Given the description of an element on the screen output the (x, y) to click on. 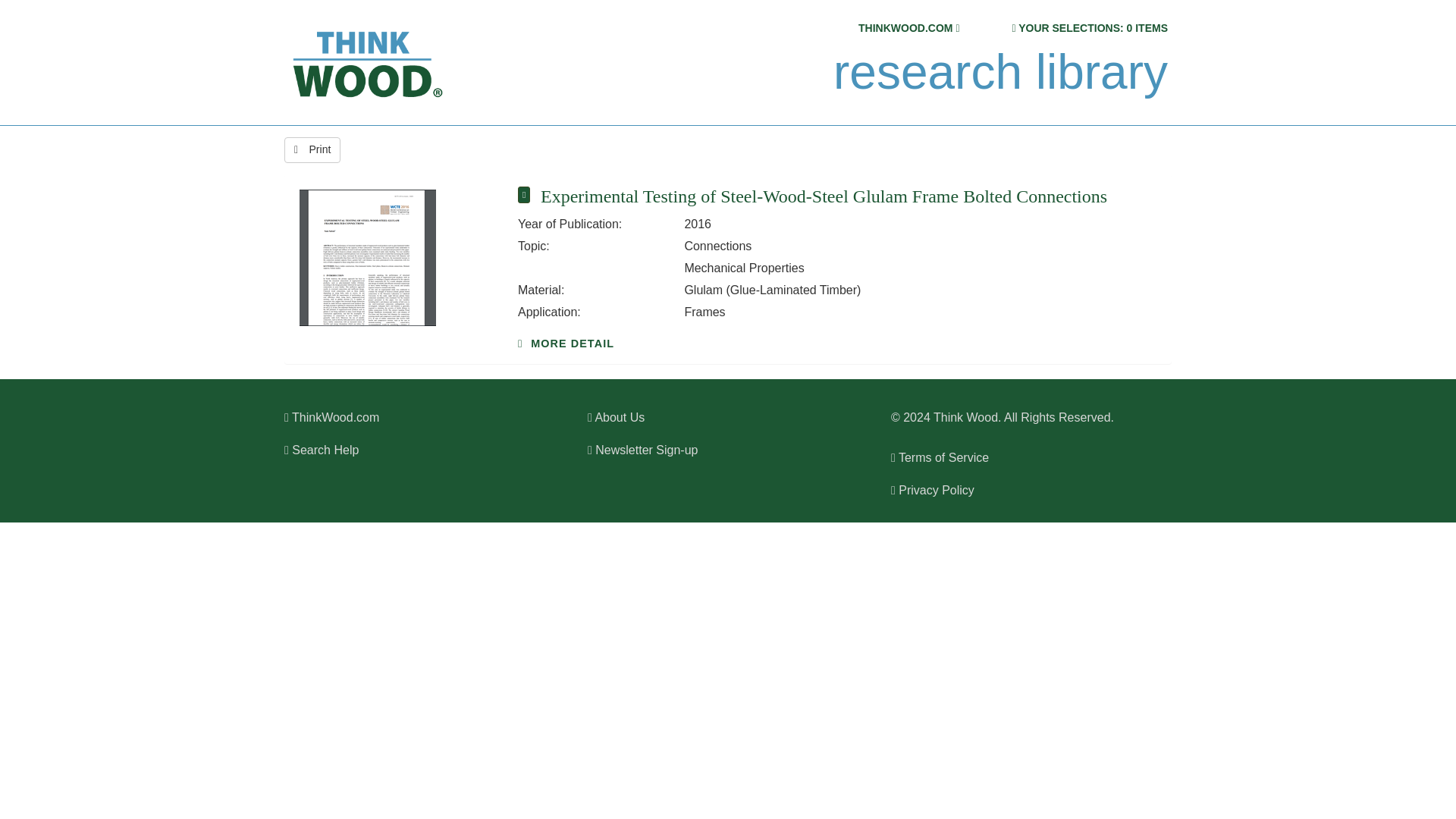
YOUR SELECTIONS: 0 ITEMS (1092, 28)
Print (311, 149)
 Privacy Policy (932, 490)
Toggle Full Record (849, 196)
 Terms of Service (939, 457)
 About Us (616, 417)
 ThinkWood.com (330, 417)
 Search Help (320, 449)
MORE DETAIL (566, 343)
research library (999, 72)
